Given the description of an element on the screen output the (x, y) to click on. 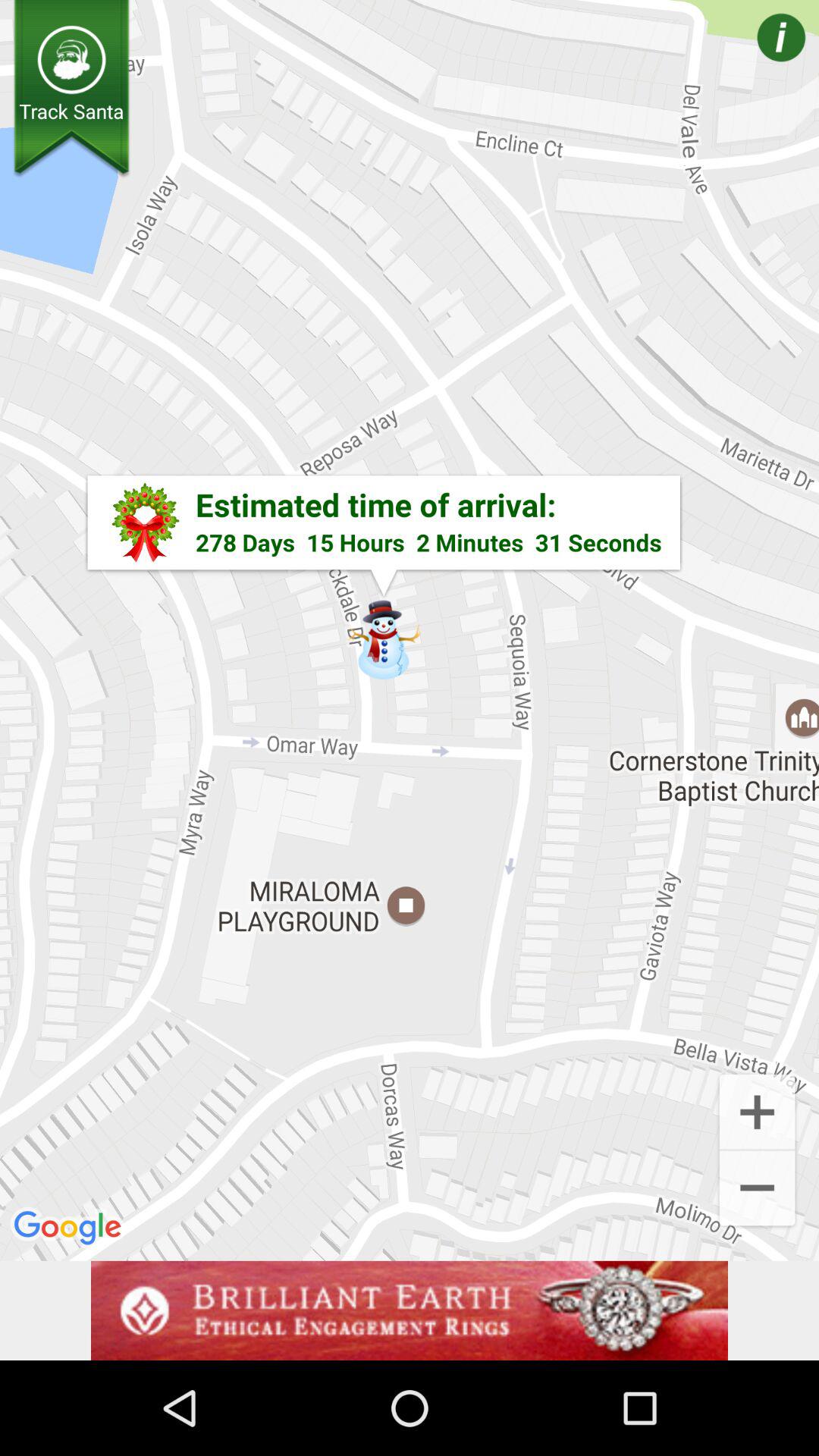
toggle for more information (759, 59)
